Given the description of an element on the screen output the (x, y) to click on. 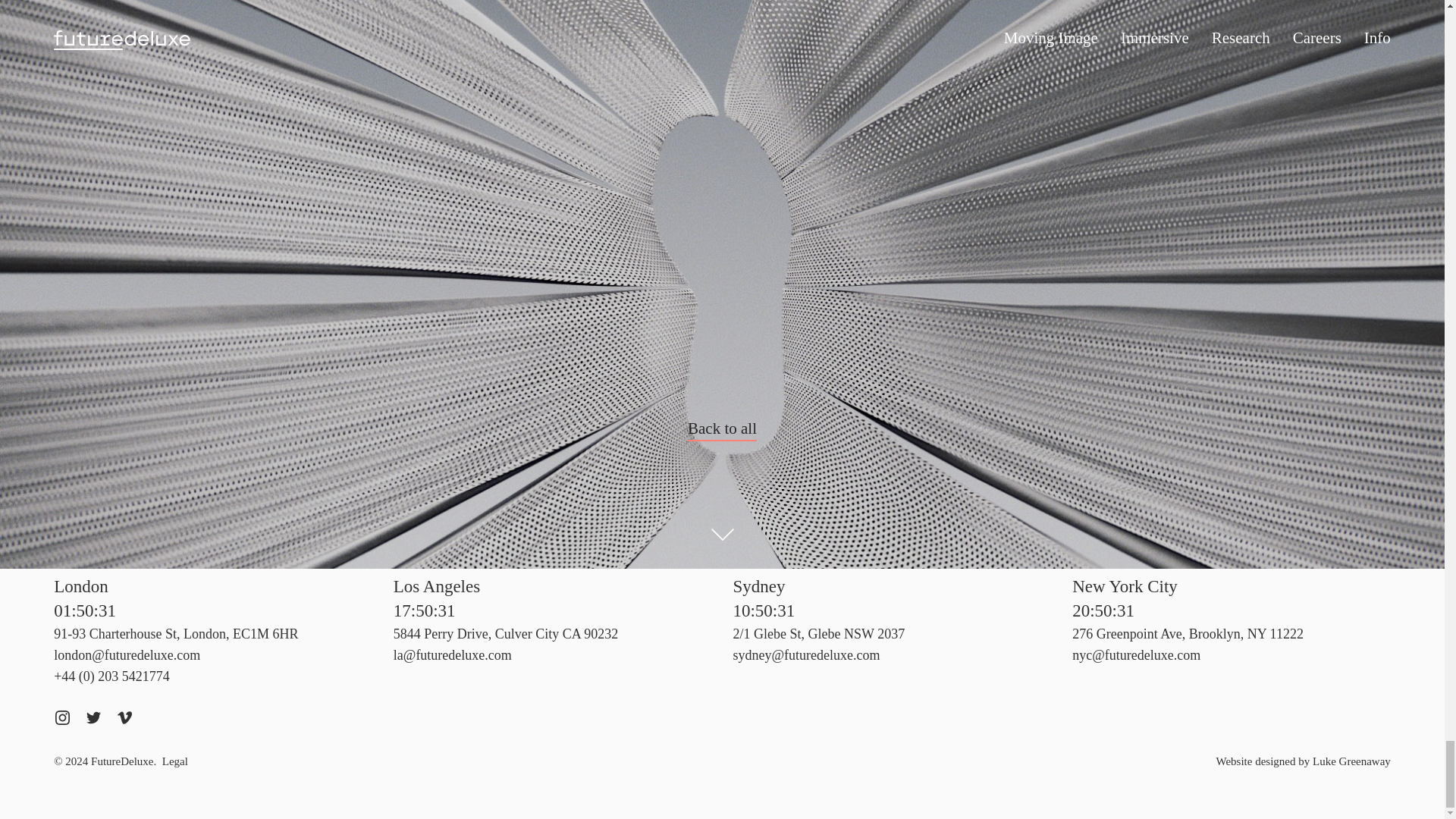
Legal (174, 762)
Back to all (722, 429)
276 Greenpoint Ave, Brooklyn, NY 11222 (1187, 634)
91-93 Charterhouse St, London, EC1M 6HR (175, 634)
Website designed by Luke Greenaway (1302, 762)
5844 Perry Drive, Culver City CA 90232 (505, 634)
Website designer Luke Greenaway (1302, 762)
